Given the description of an element on the screen output the (x, y) to click on. 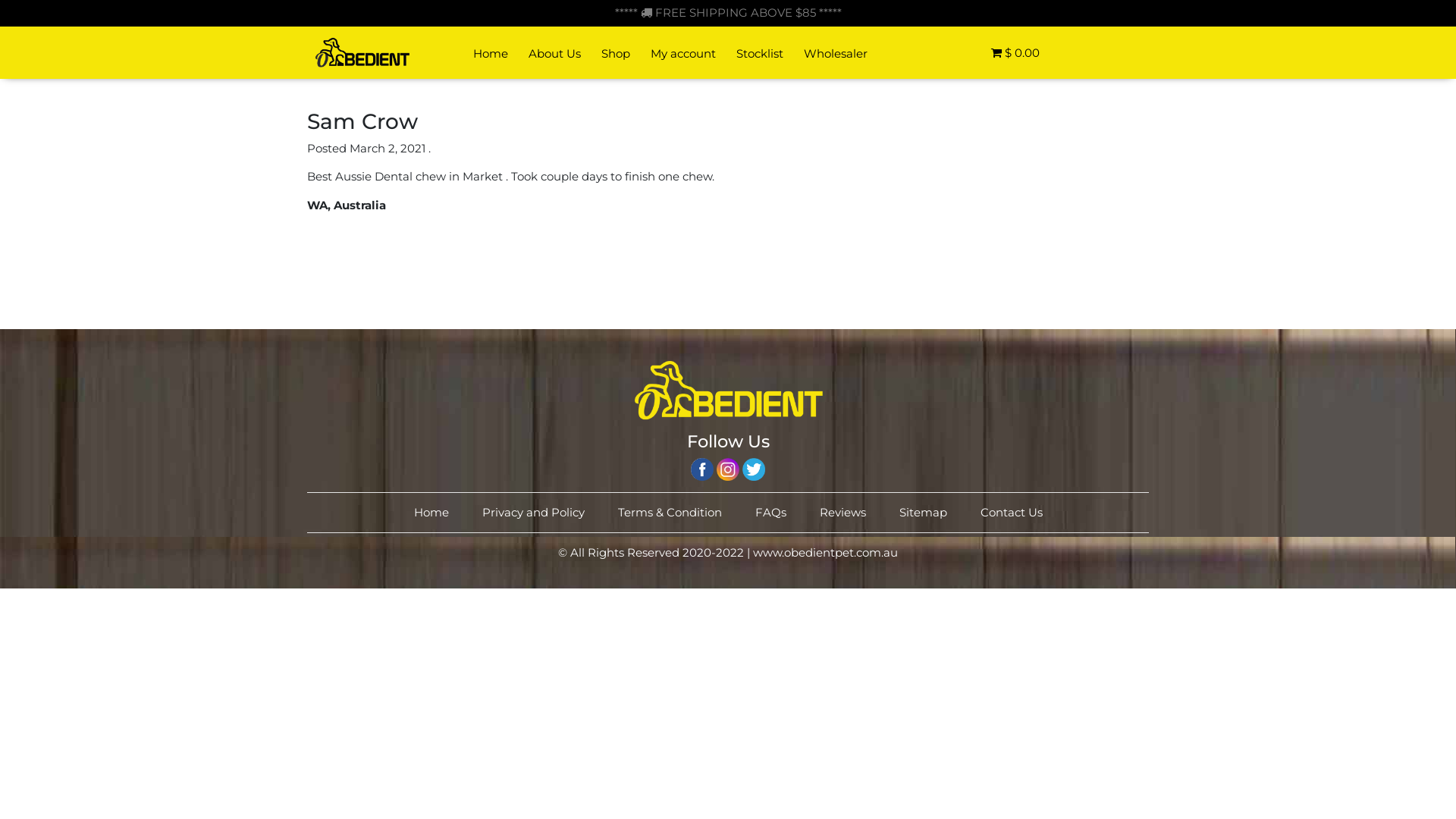
FAQs Element type: text (770, 512)
Reviews Element type: text (842, 512)
Stocklist Element type: text (759, 53)
Sitemap Element type: text (923, 512)
$ 0.00 Element type: text (964, 55)
Wholesaler Element type: text (834, 53)
Home Element type: text (490, 53)
Shop Element type: text (615, 53)
My account Element type: text (682, 53)
Privacy and Policy Element type: text (533, 512)
Home Element type: text (431, 512)
Terms & Condition Element type: text (669, 512)
Contact Us Element type: text (1010, 512)
About Us Element type: text (554, 53)
